Given the description of an element on the screen output the (x, y) to click on. 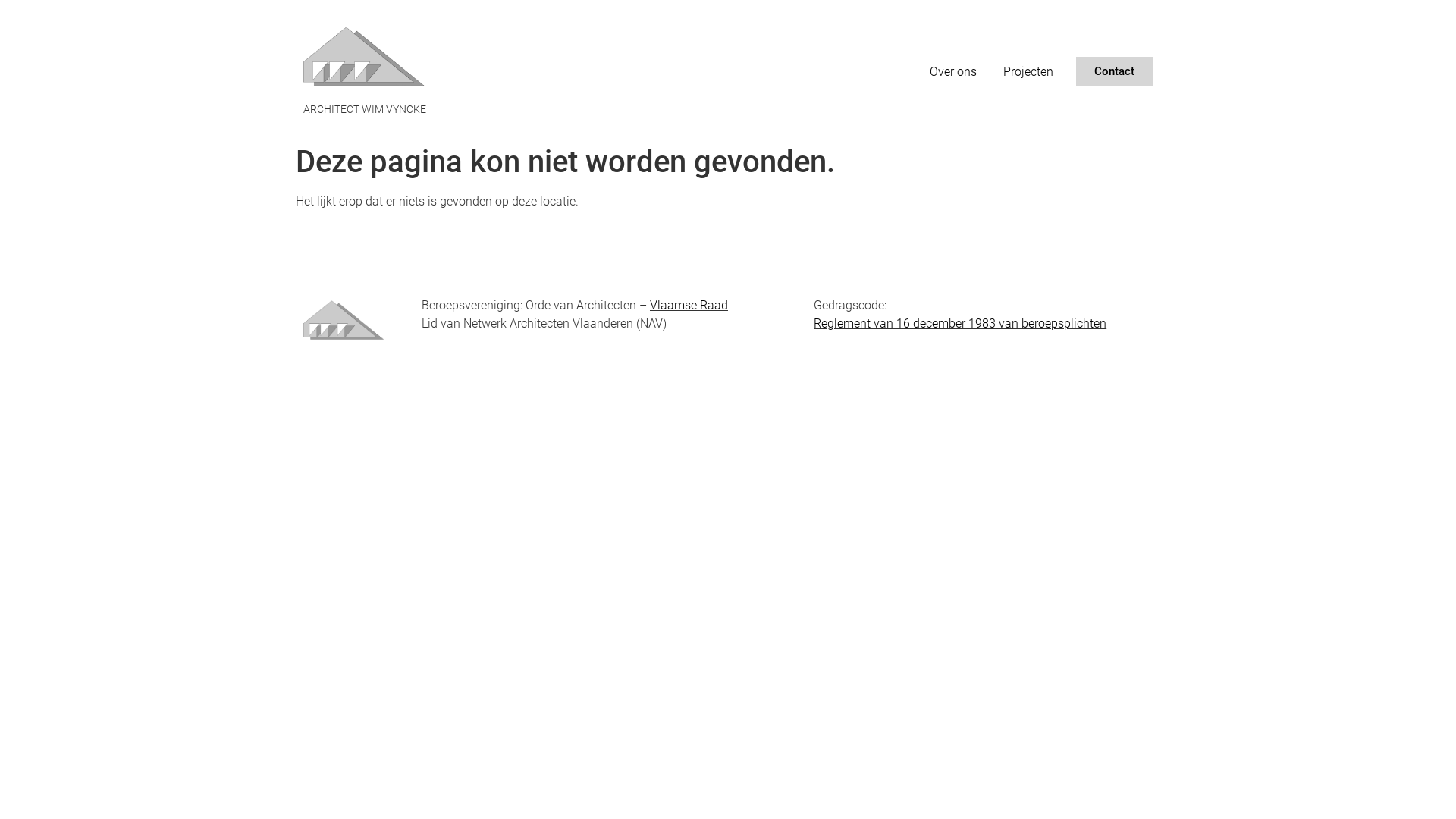
Reglement van 16 december 1983 van beroepsplichten Element type: text (959, 323)
Contact Element type: text (1114, 71)
Projecten Element type: text (1028, 71)
Vlaamse Raad Element type: text (688, 305)
Over ons Element type: text (952, 71)
